Given the description of an element on the screen output the (x, y) to click on. 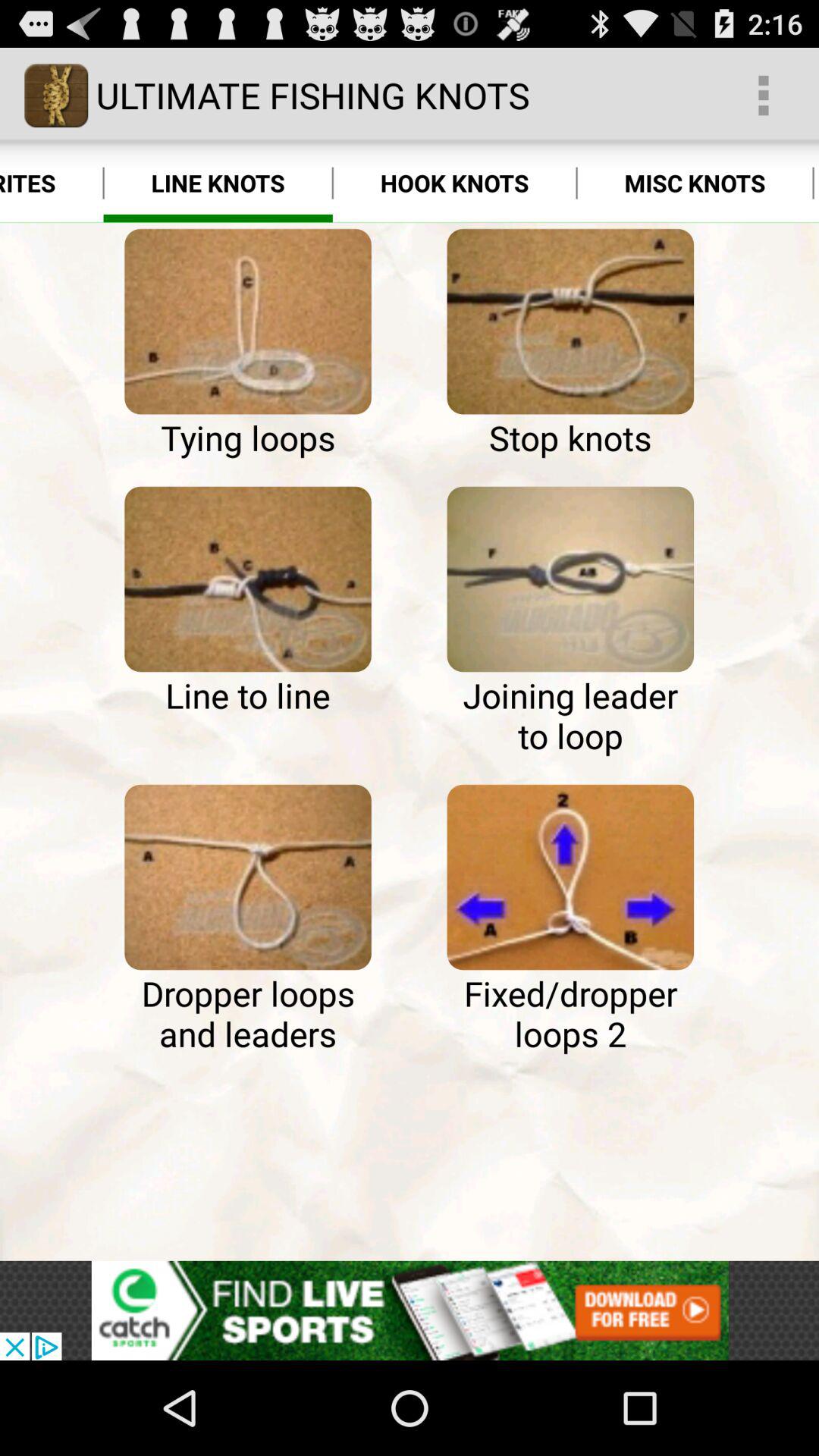
select line to line (247, 578)
